Given the description of an element on the screen output the (x, y) to click on. 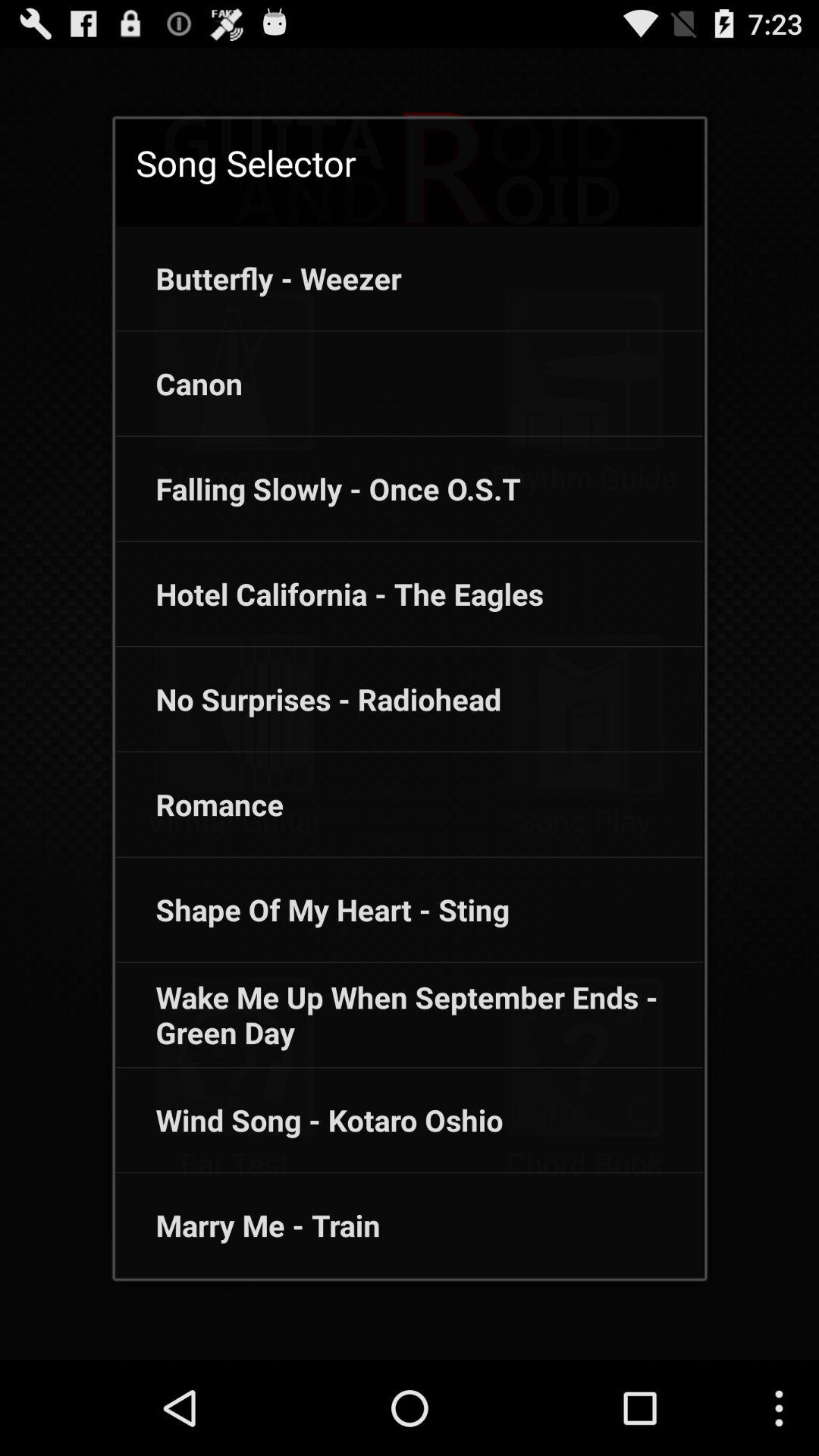
press app below no surprises - radiohead icon (199, 804)
